Given the description of an element on the screen output the (x, y) to click on. 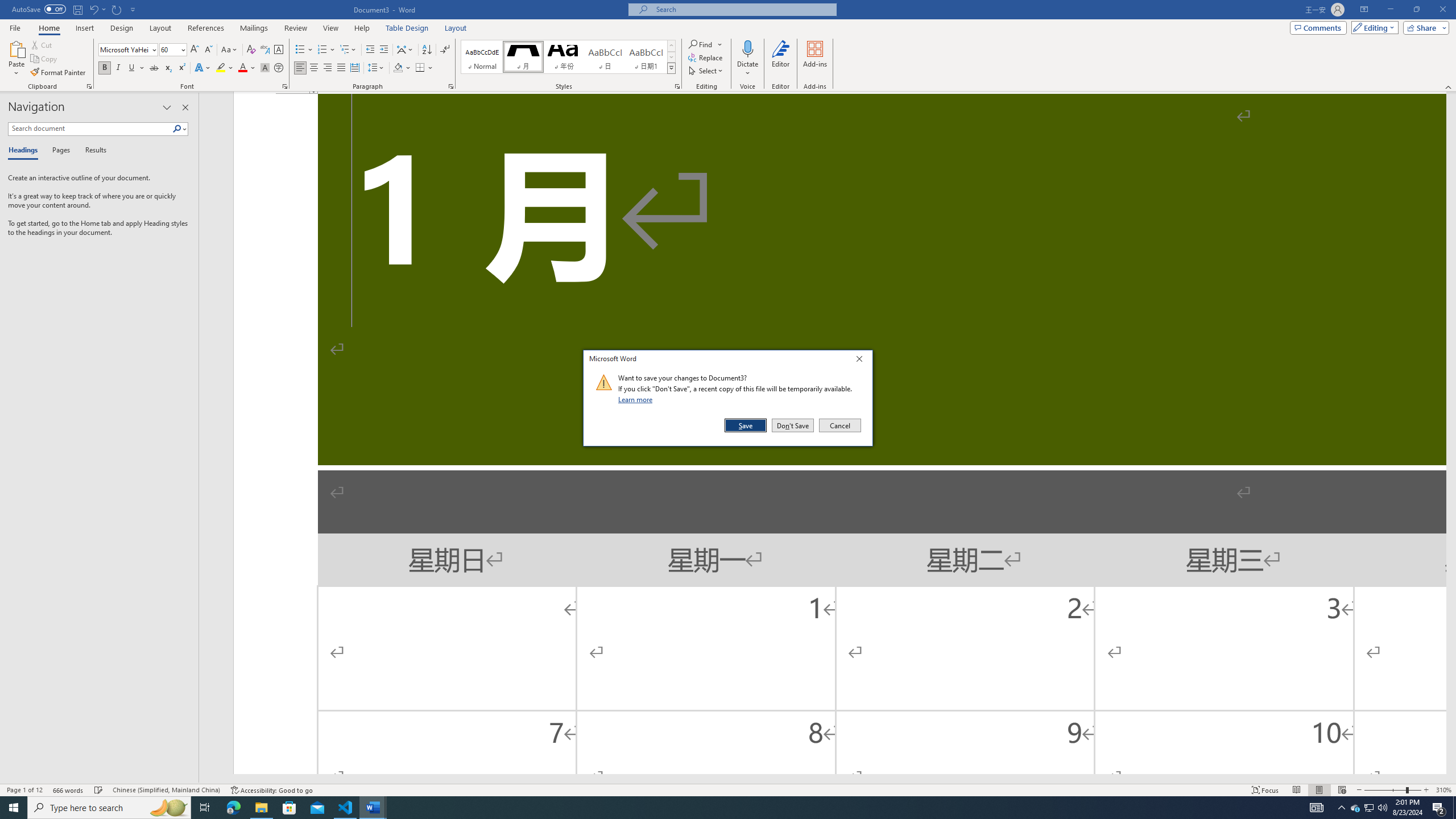
Page Number Page 1 of 12 (24, 790)
Show desktop (1355, 807)
Visual Studio Code - 1 running window (1454, 807)
